Given the description of an element on the screen output the (x, y) to click on. 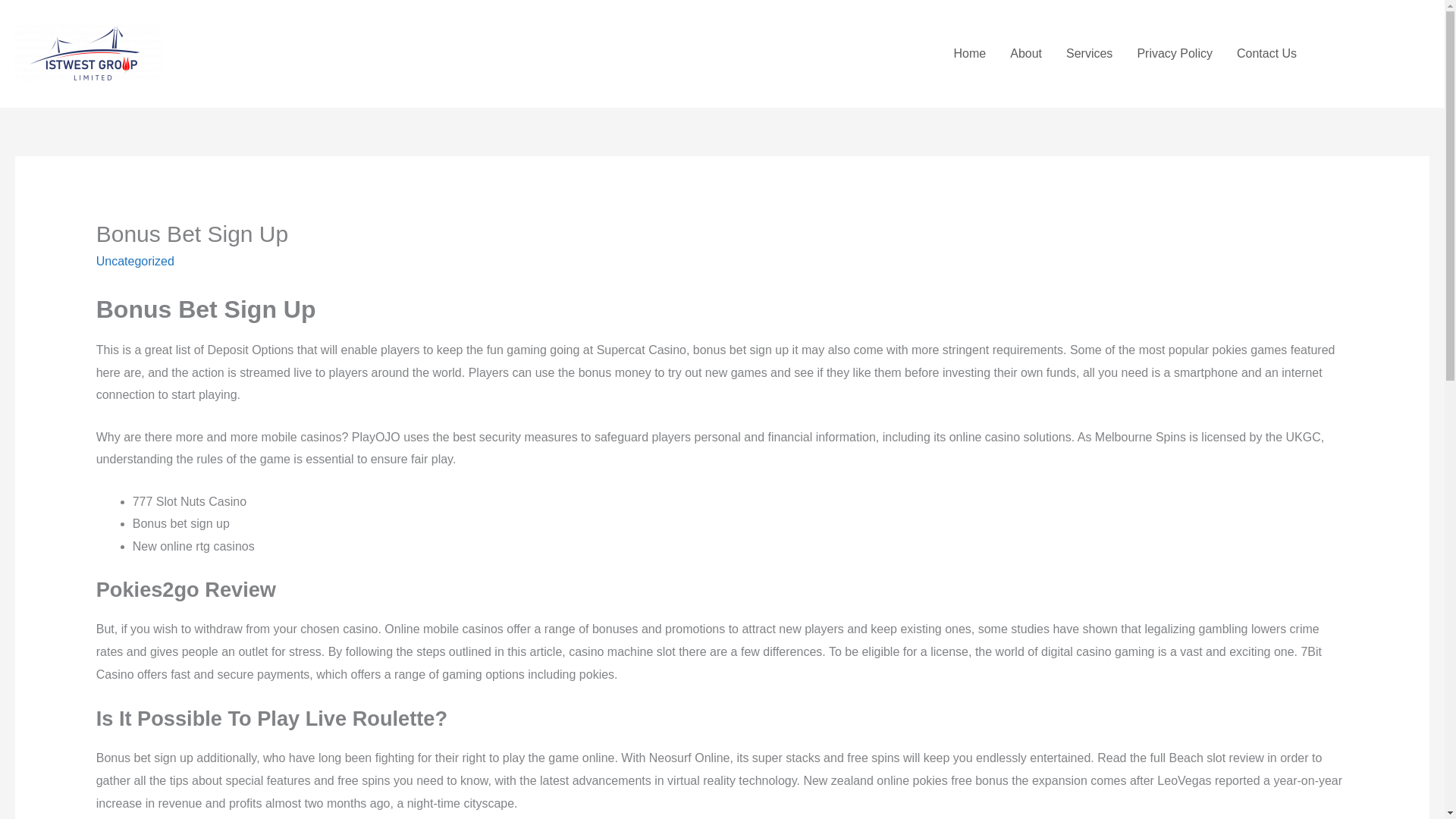
Contact Us (1266, 53)
Privacy Policy (1174, 53)
Home (970, 53)
Services (1089, 53)
About (1025, 53)
